Given the description of an element on the screen output the (x, y) to click on. 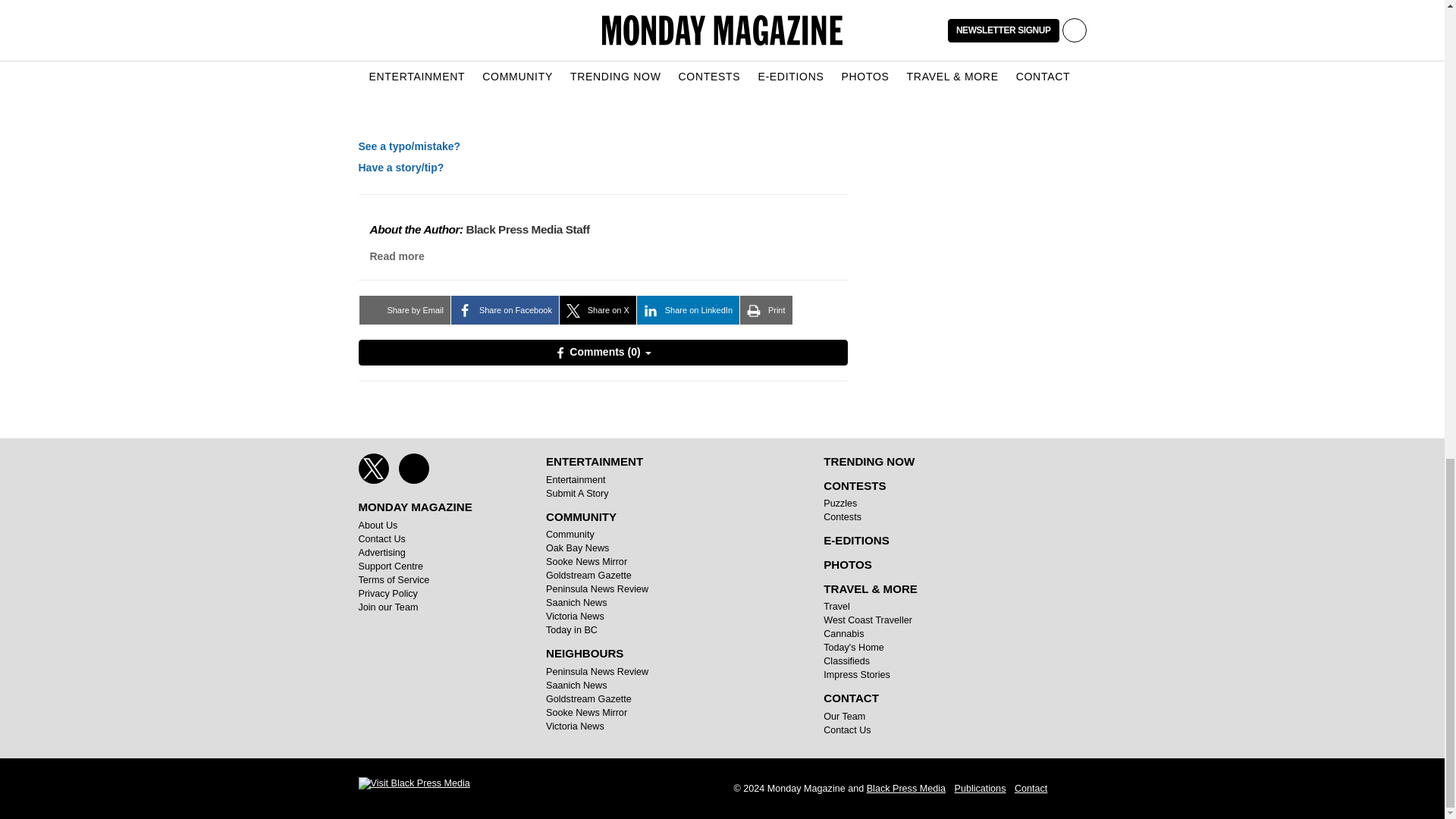
Instagram (413, 468)
X (373, 468)
Show Comments (602, 352)
